Given the description of an element on the screen output the (x, y) to click on. 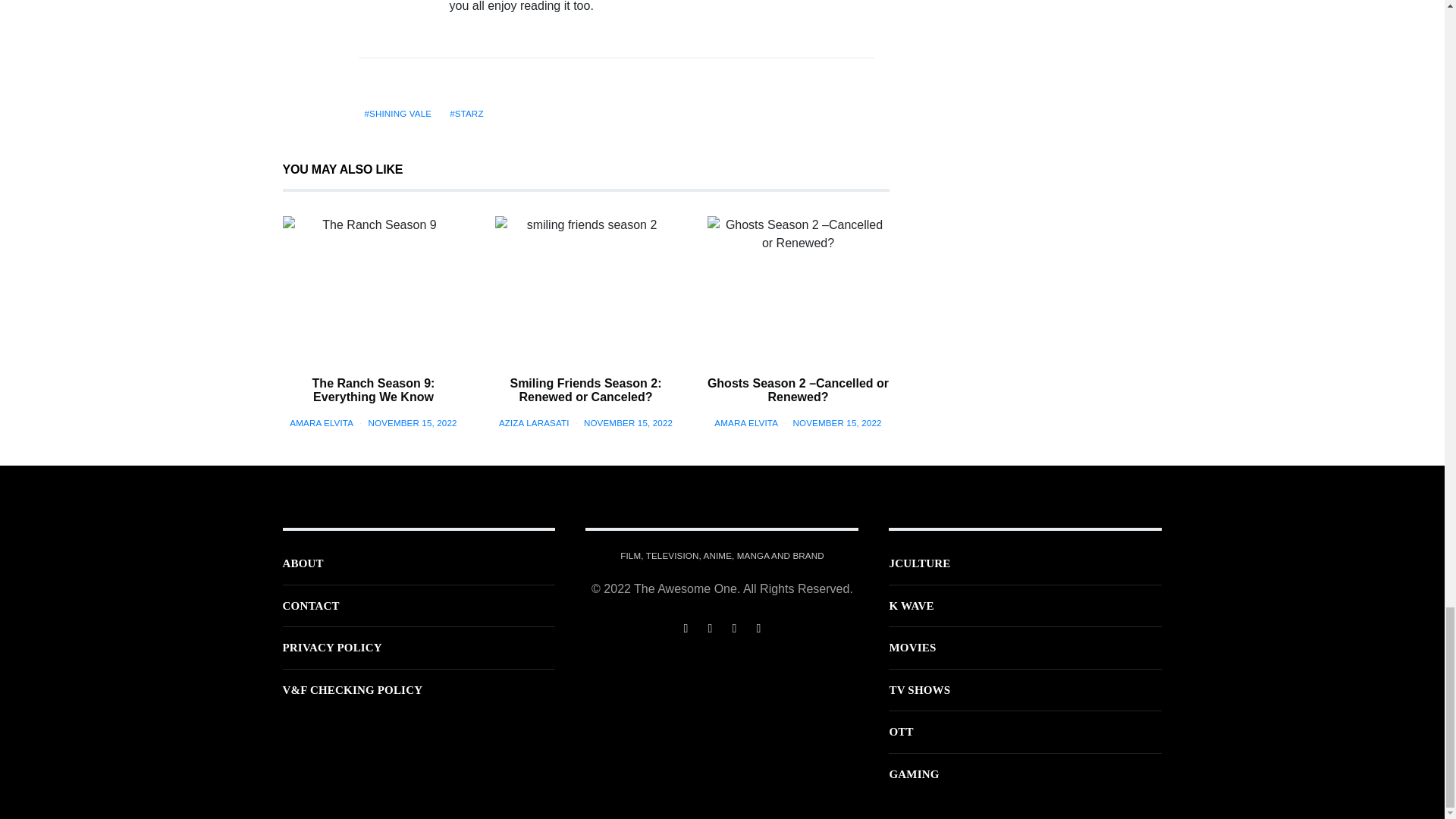
View all posts by Aziza Larasati (534, 422)
View all posts by Amara Elvita (745, 422)
The Ranch Season 9: Everything We Know (373, 284)
Smiling Friends Season 2: Renewed or Canceled? (586, 284)
View all posts by Amara Elvita (321, 422)
